Given the description of an element on the screen output the (x, y) to click on. 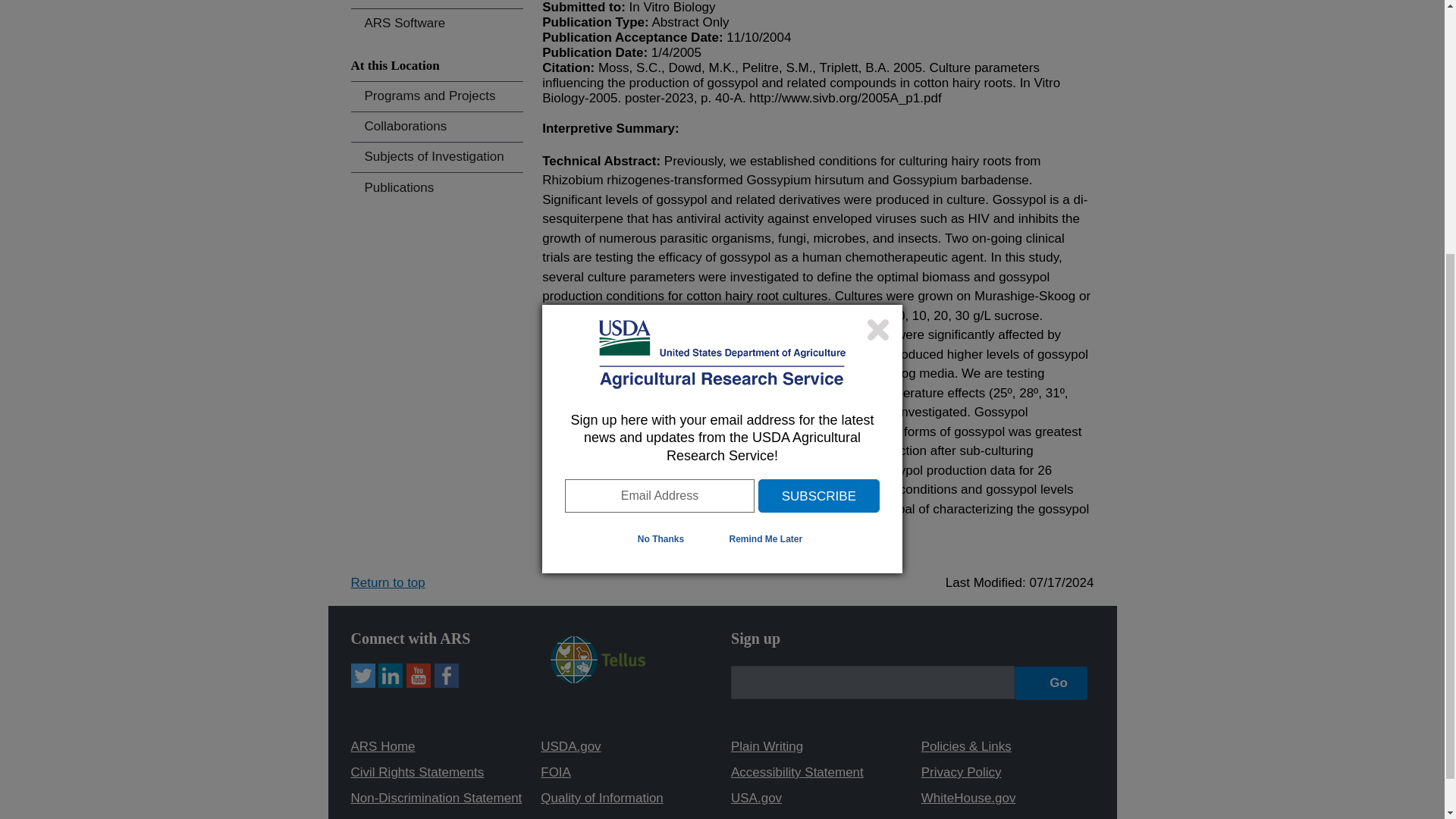
LinkedIn (390, 675)
email (872, 682)
Search for a research project (436, 3)
Email Address (659, 117)
Programs and Projects (436, 96)
Tellus (597, 677)
ARS Software (436, 23)
Publications (436, 187)
Youtube (418, 675)
Go (1050, 683)
Twitter (362, 675)
Subscribe (818, 117)
Tellus (597, 659)
Collaborations (436, 126)
Subjects of Investigation (436, 156)
